Given the description of an element on the screen output the (x, y) to click on. 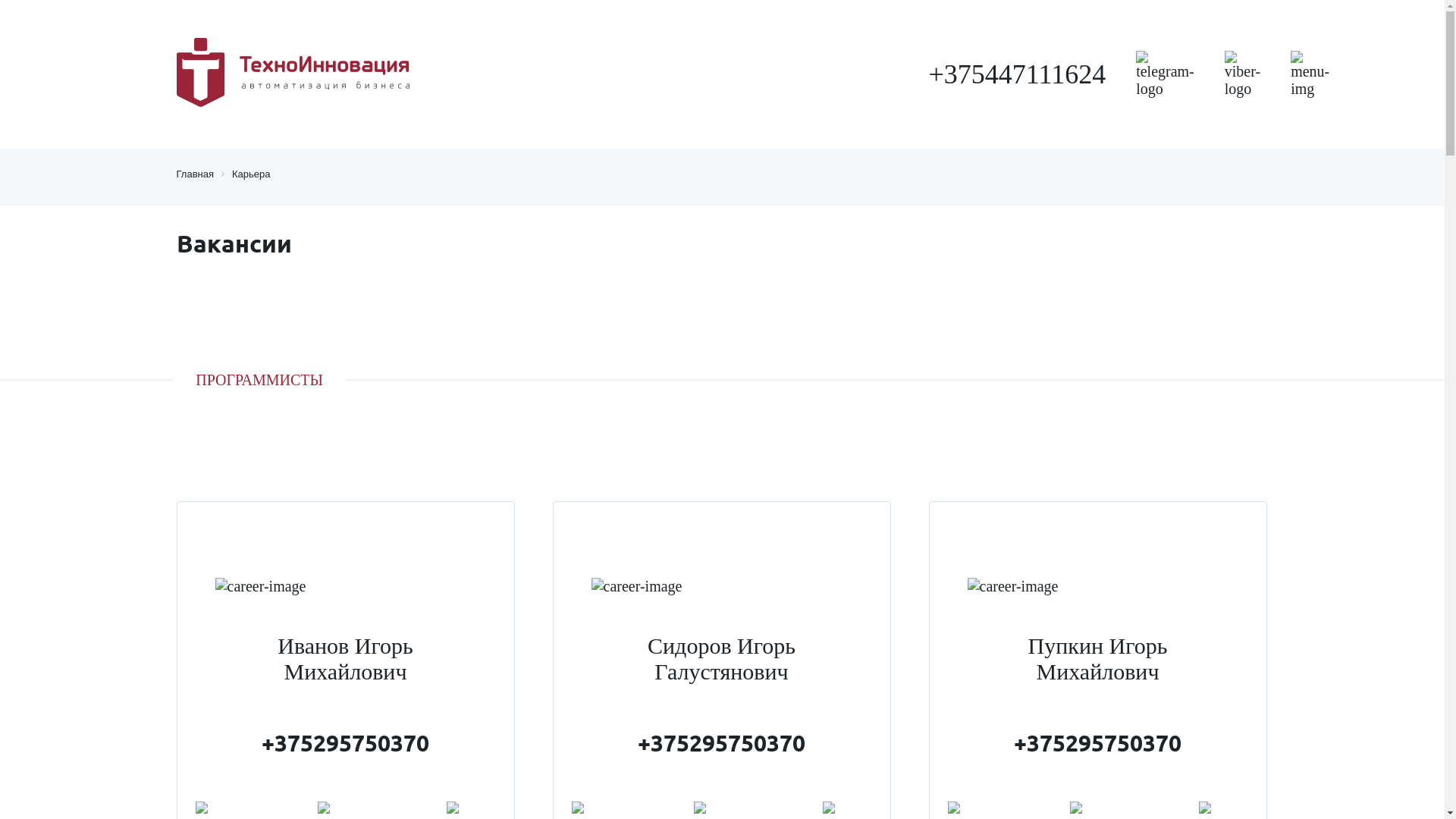
+375295750370 Element type: text (345, 742)
+375295750370 Element type: text (721, 742)
+375295750370 Element type: text (1097, 742)
+375447111624 Element type: text (1016, 73)
